Given the description of an element on the screen output the (x, y) to click on. 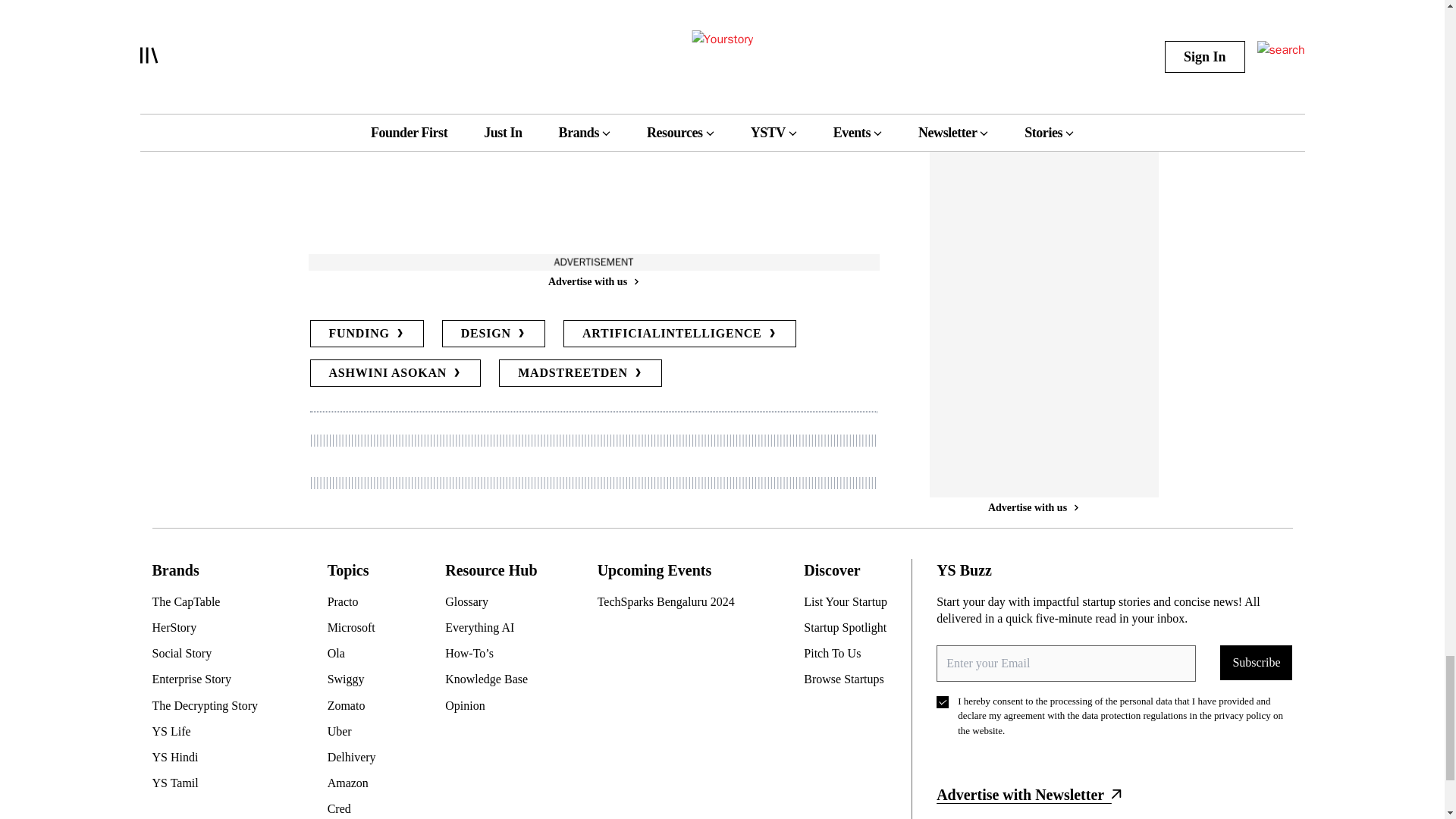
ASHWINI ASOKAN (394, 372)
DESIGN (493, 333)
ARTIFICIALINTELLIGENCE (679, 333)
FUNDING (365, 333)
MADSTREETDEN (580, 372)
Advertise with us (592, 281)
